Given the description of an element on the screen output the (x, y) to click on. 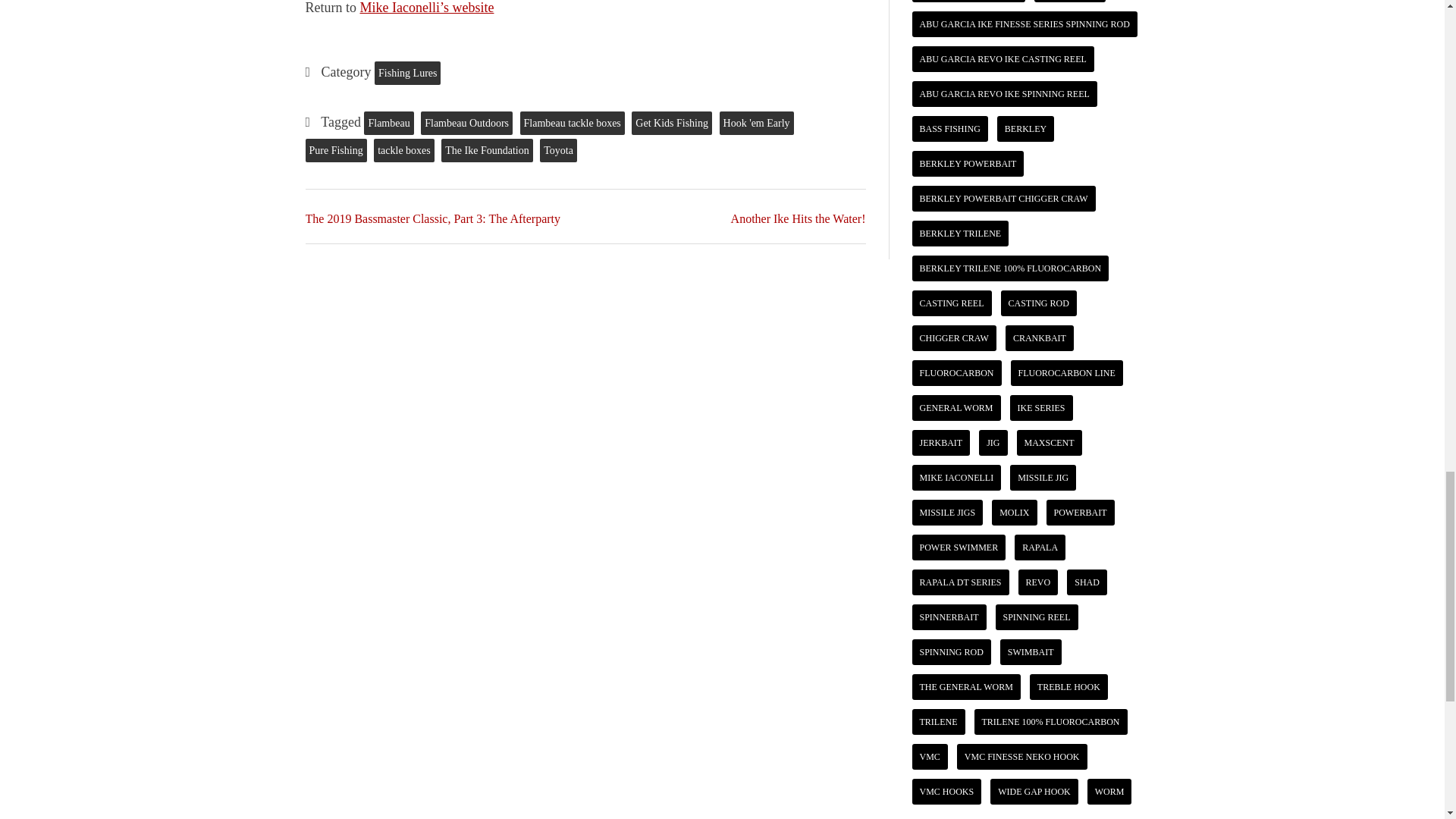
Flambeau Outdoors (466, 123)
Flambeau (388, 123)
Flambeau tackle boxes (571, 123)
Fishing Lures (407, 73)
